Given the description of an element on the screen output the (x, y) to click on. 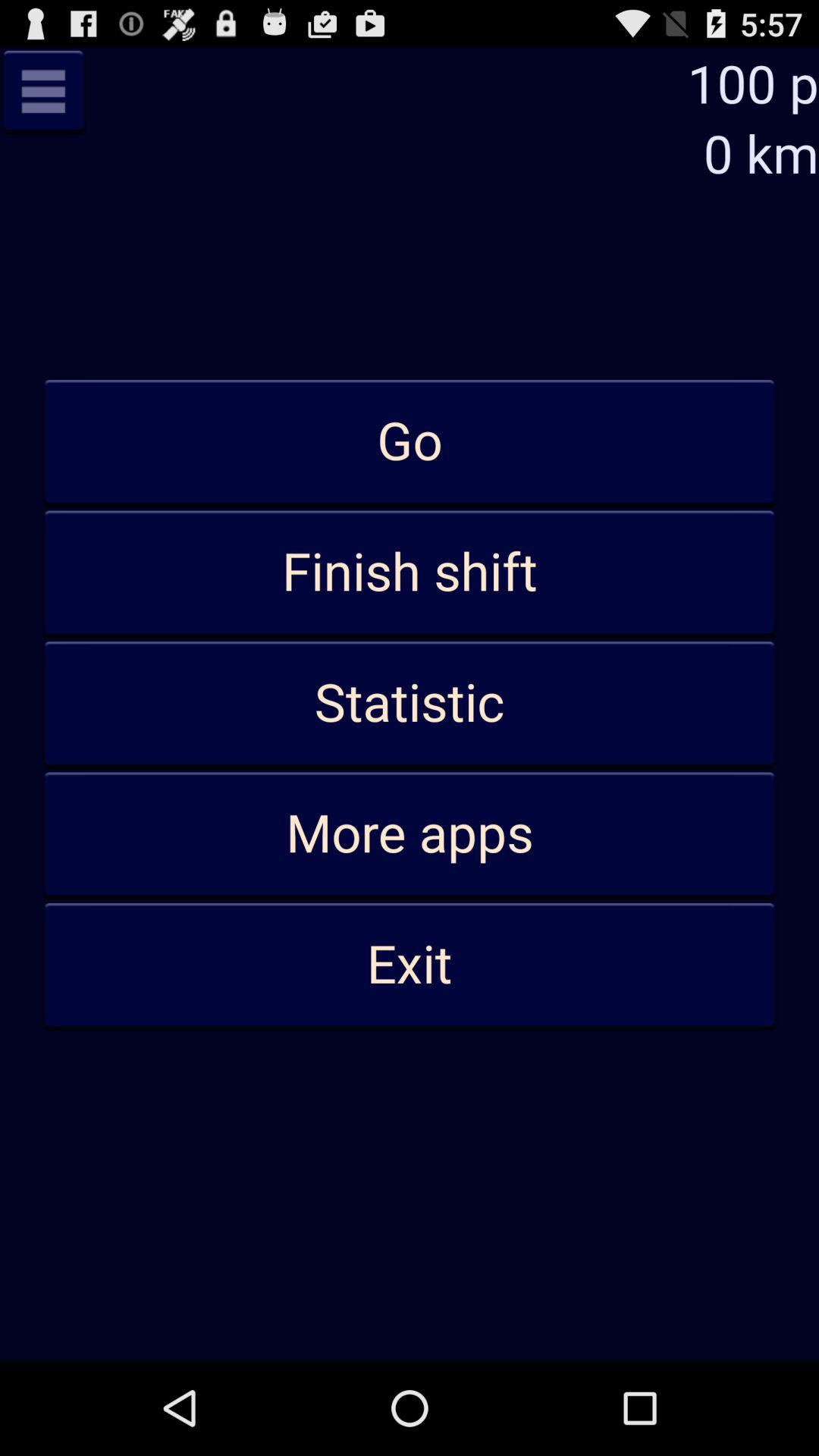
turn off the item above go app (43, 90)
